Given the description of an element on the screen output the (x, y) to click on. 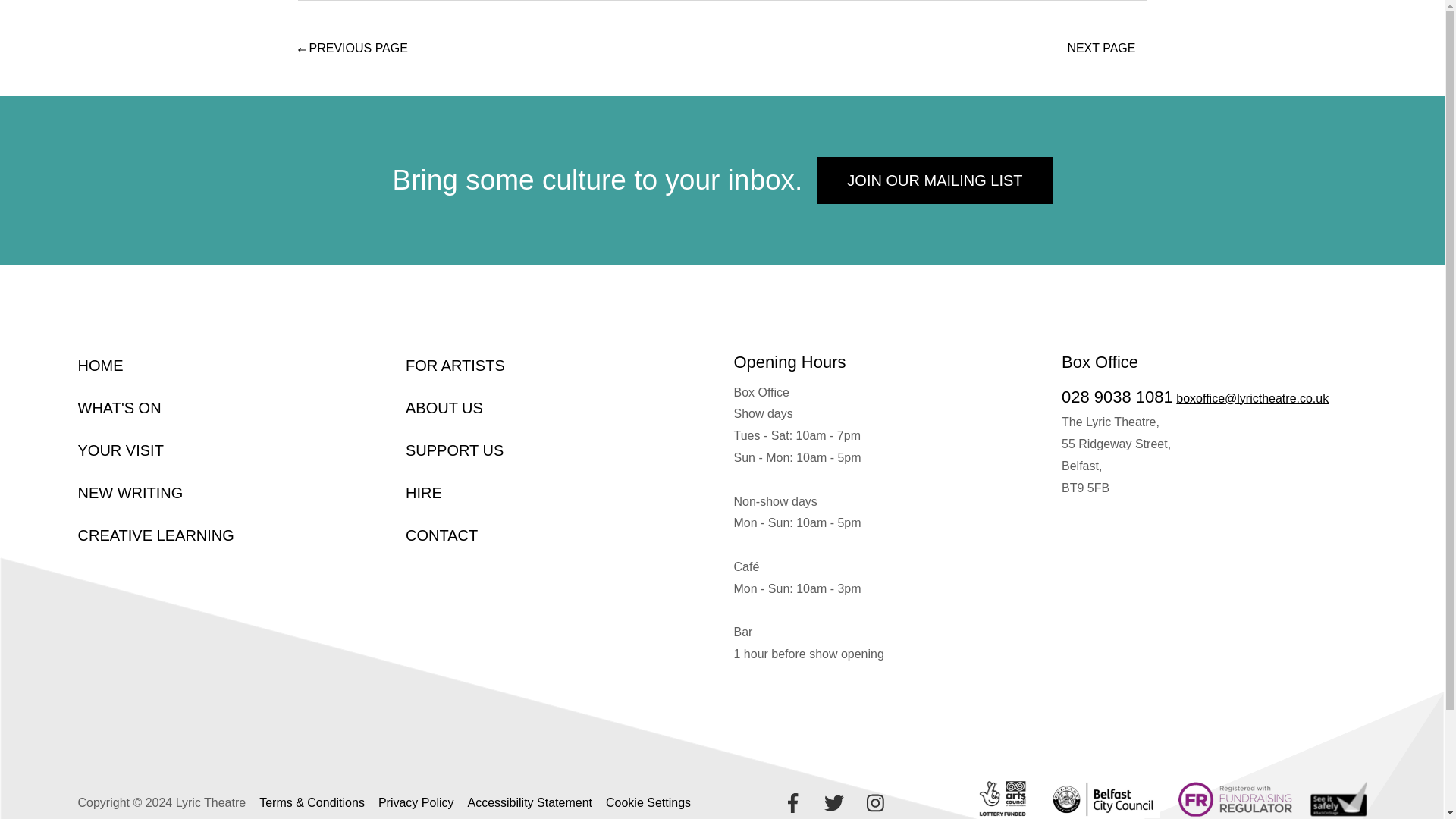
HIRE (424, 492)
NEXT PAGE (1107, 48)
Privacy Policy (416, 802)
HOME (99, 365)
Accessibility Statement (529, 802)
028 9038 1081 (1117, 396)
WHAT'S ON (118, 407)
SUPPORT US (454, 450)
YOUR VISIT (120, 450)
CREATIVE LEARNING (154, 535)
PREVIOUS PAGE (352, 48)
FOR ARTISTS (455, 365)
Cookie Settings (647, 802)
ABOUT US (444, 407)
CONTACT (441, 535)
